Given the description of an element on the screen output the (x, y) to click on. 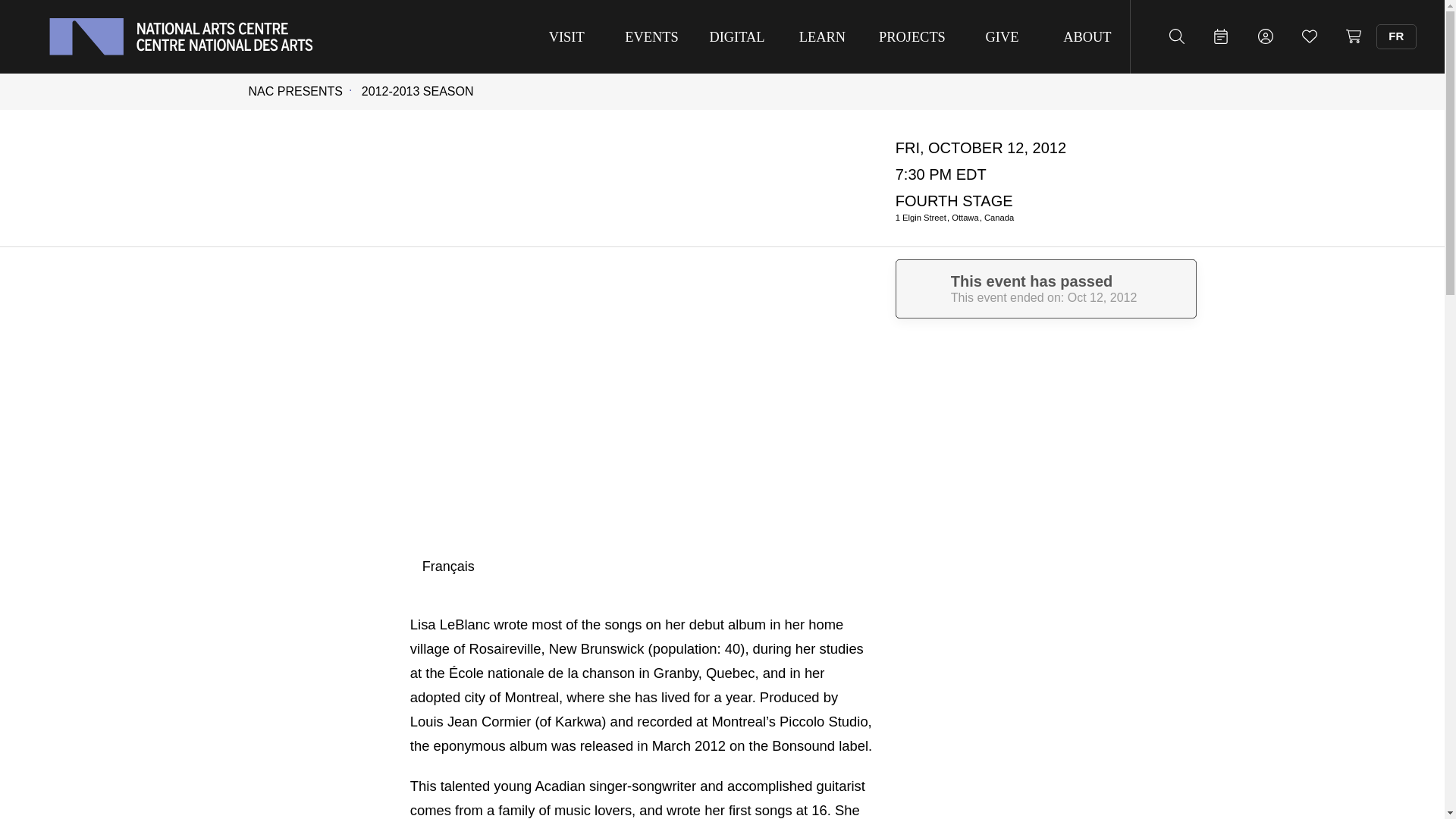
My Account (1265, 36)
My wish list (1309, 36)
My cart (1353, 36)
Search (1176, 36)
7:30 pm (941, 174)
Event language (448, 566)
Events calendar (1220, 36)
VISIT (566, 36)
EVENTS (651, 36)
Home (181, 36)
